Given the description of an element on the screen output the (x, y) to click on. 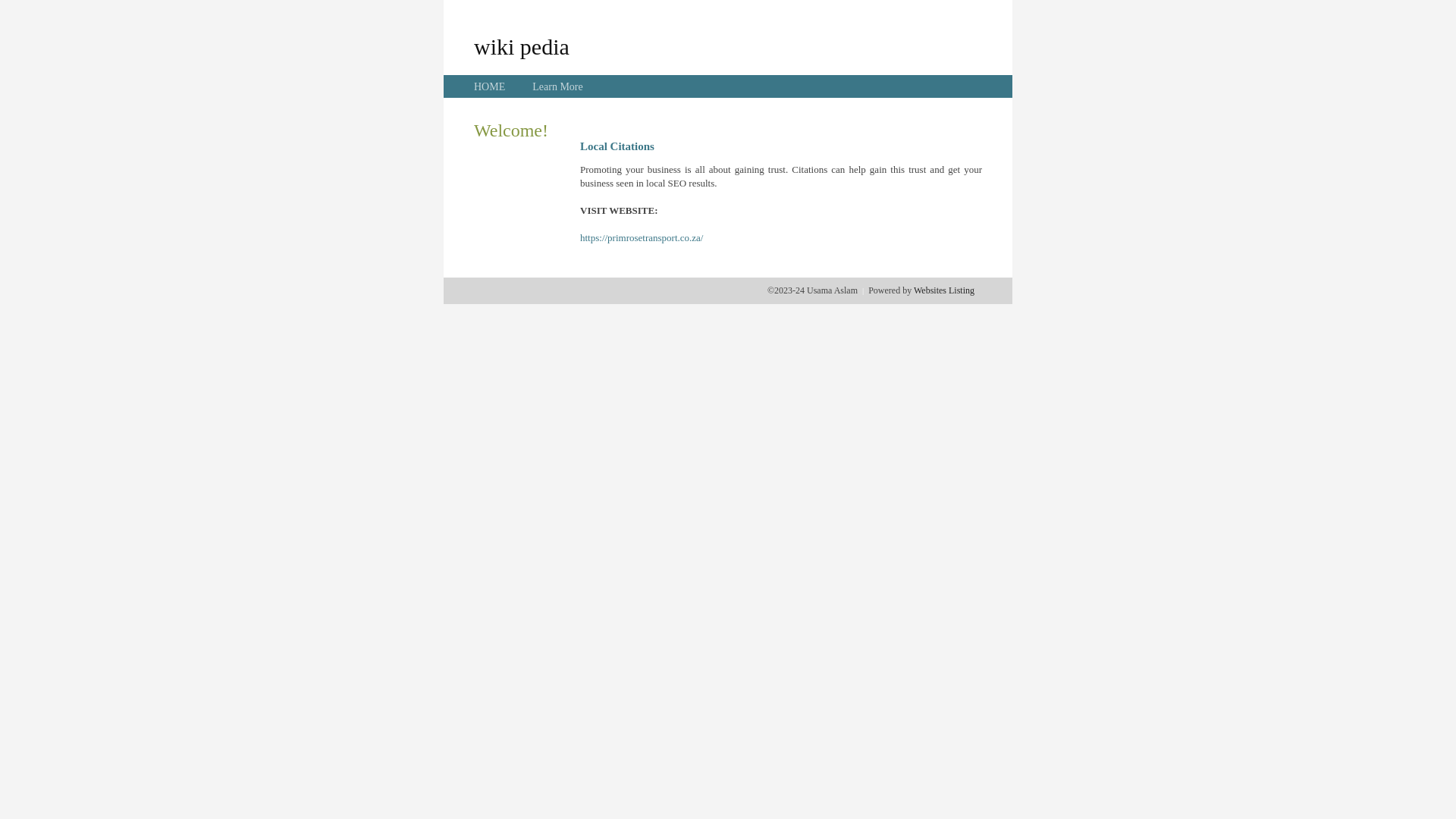
Learn More Element type: text (557, 86)
Websites Listing Element type: text (943, 290)
wiki pedia Element type: text (521, 46)
https://primrosetransport.co.za/ Element type: text (641, 237)
HOME Element type: text (489, 86)
